Given the description of an element on the screen output the (x, y) to click on. 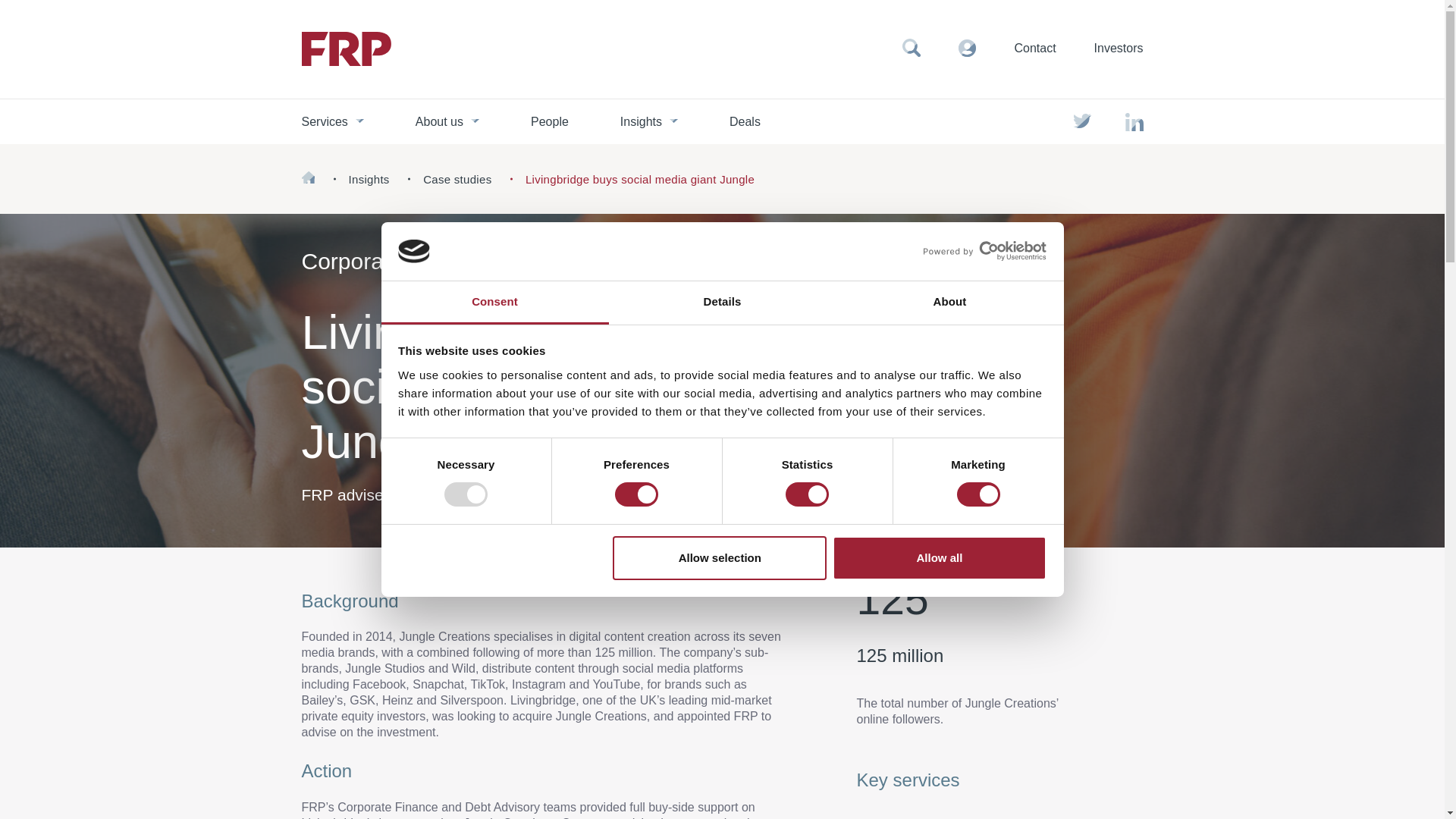
Details (721, 302)
About (948, 302)
Consent (494, 302)
